Given the description of an element on the screen output the (x, y) to click on. 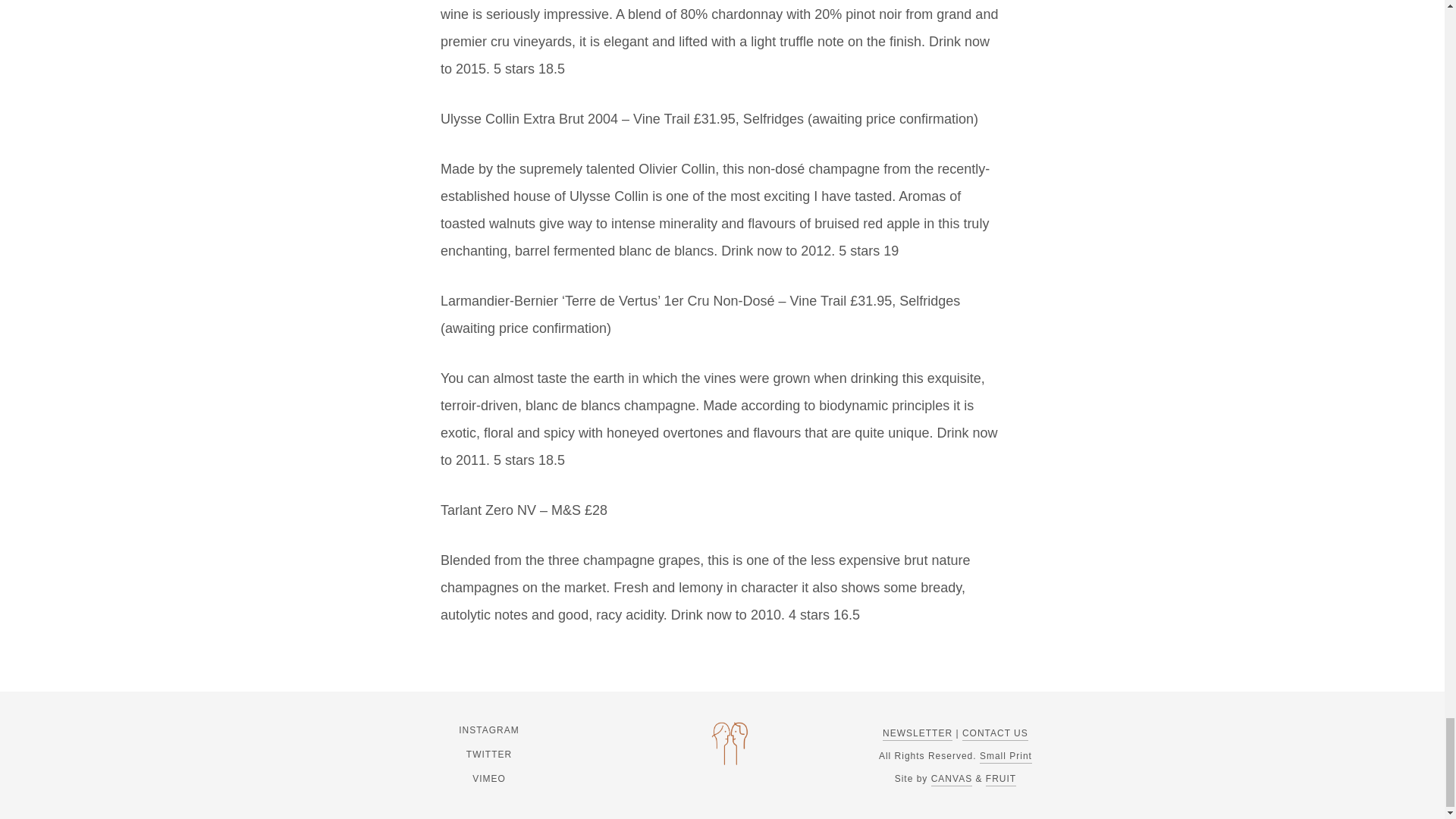
Small Print (1005, 757)
VIMEO (488, 778)
CONTACT US (994, 734)
CANVAS (951, 779)
FRUIT (1000, 779)
NEWSLETTER (917, 734)
INSTAGRAM (488, 729)
TWITTER (488, 754)
